Given the description of an element on the screen output the (x, y) to click on. 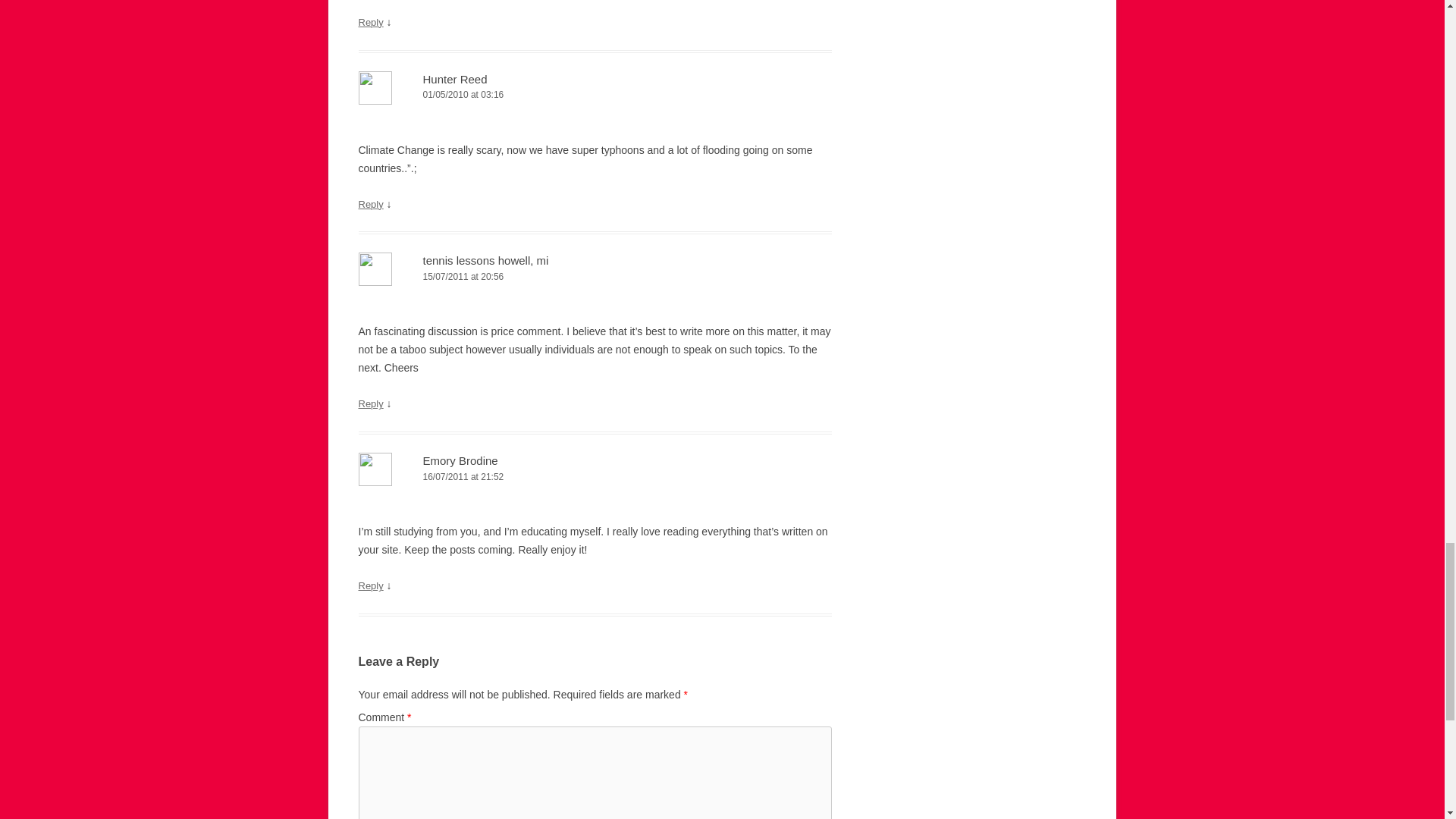
Reply (370, 403)
Hunter Reed (455, 78)
tennis lessons howell, mi (485, 259)
Reply (370, 204)
Reply (370, 21)
